Given the description of an element on the screen output the (x, y) to click on. 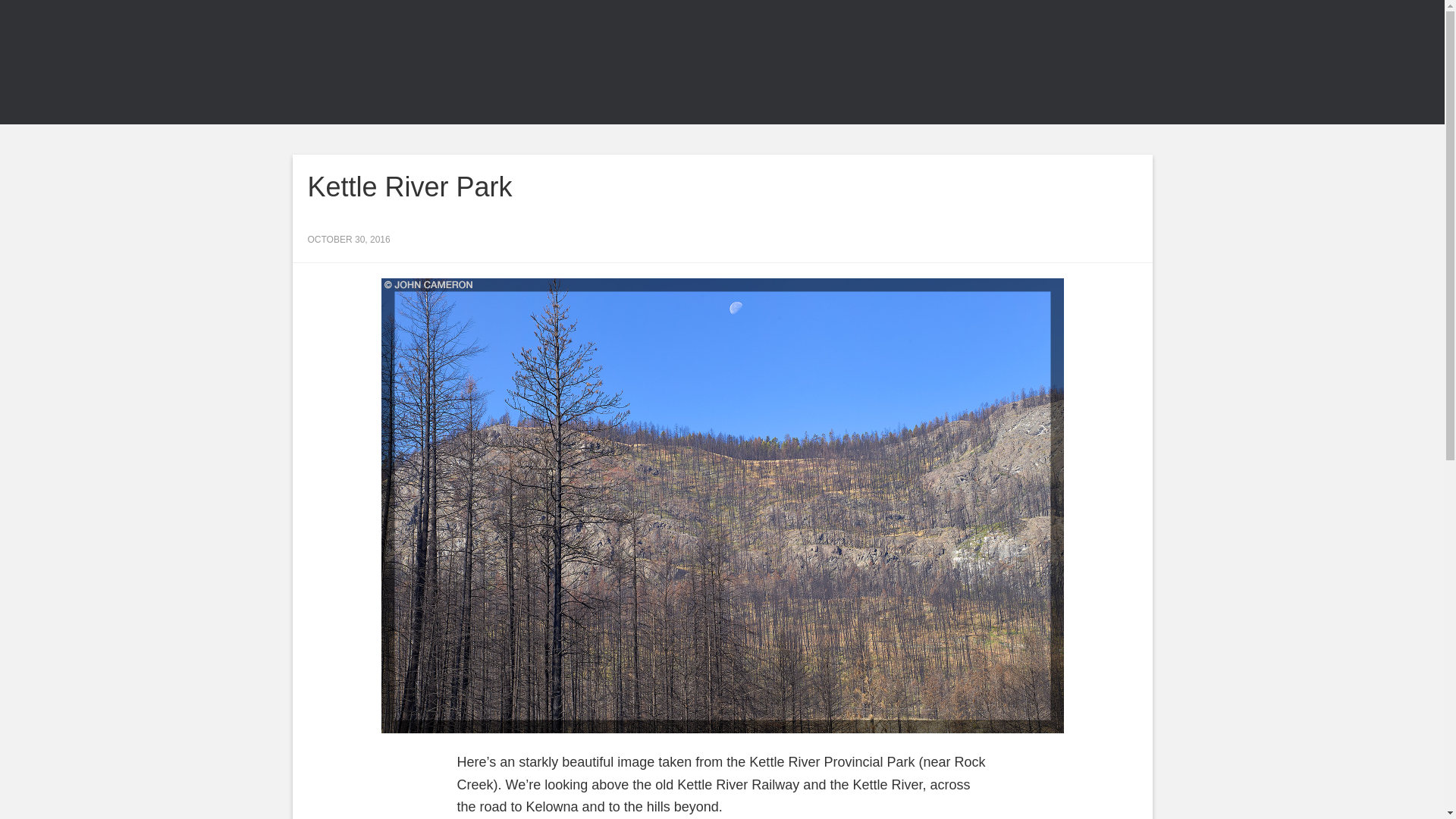
Salt Spring Photos (425, 62)
